Given the description of an element on the screen output the (x, y) to click on. 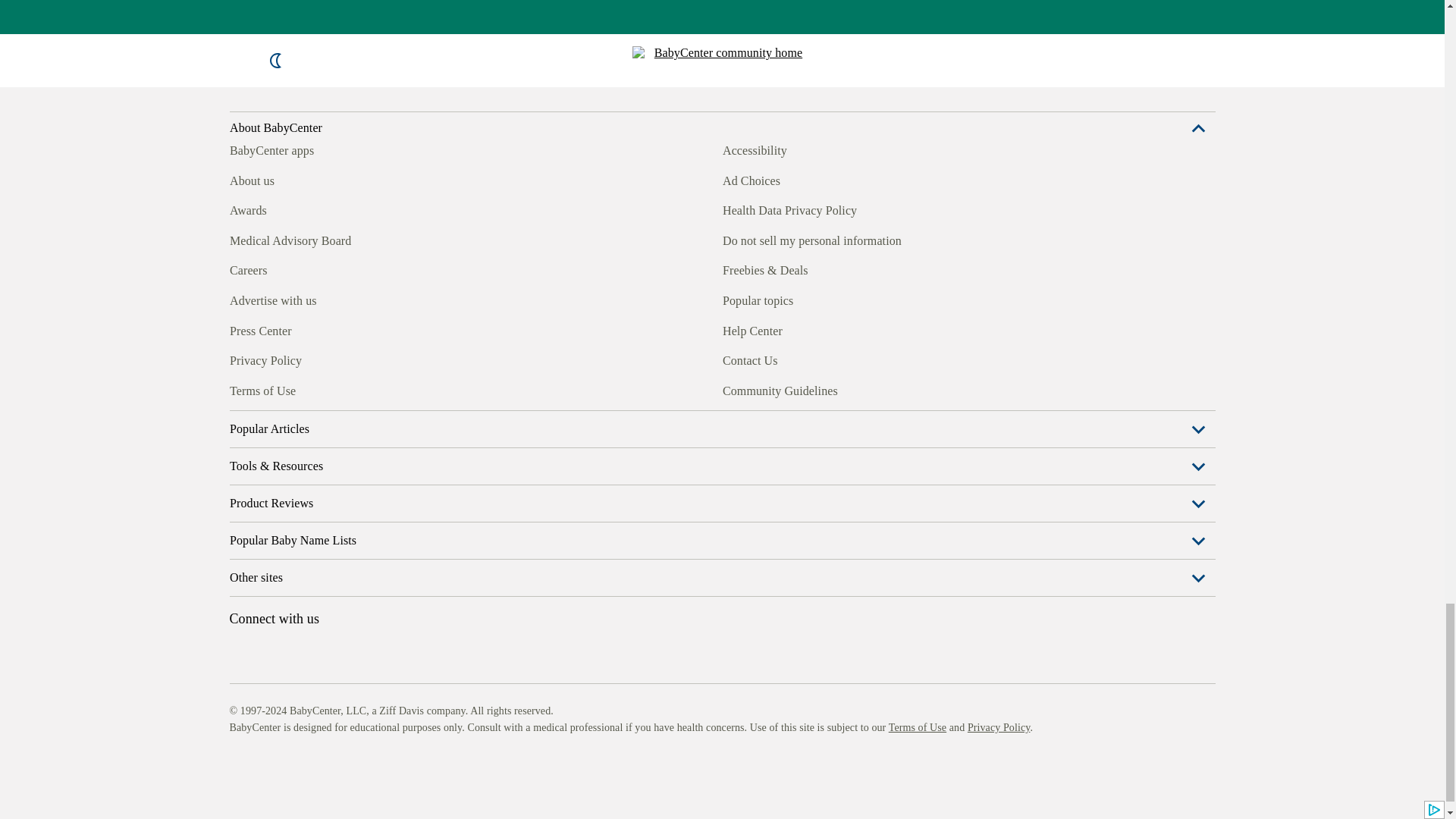
BabyCenter Instagram feed (274, 388)
BabyCenter Facebook page (239, 388)
BabyCenter Twitter feed (379, 388)
BabyCenter Pinterest board (309, 388)
BabyCenter YouTube channel (344, 388)
